Given the description of an element on the screen output the (x, y) to click on. 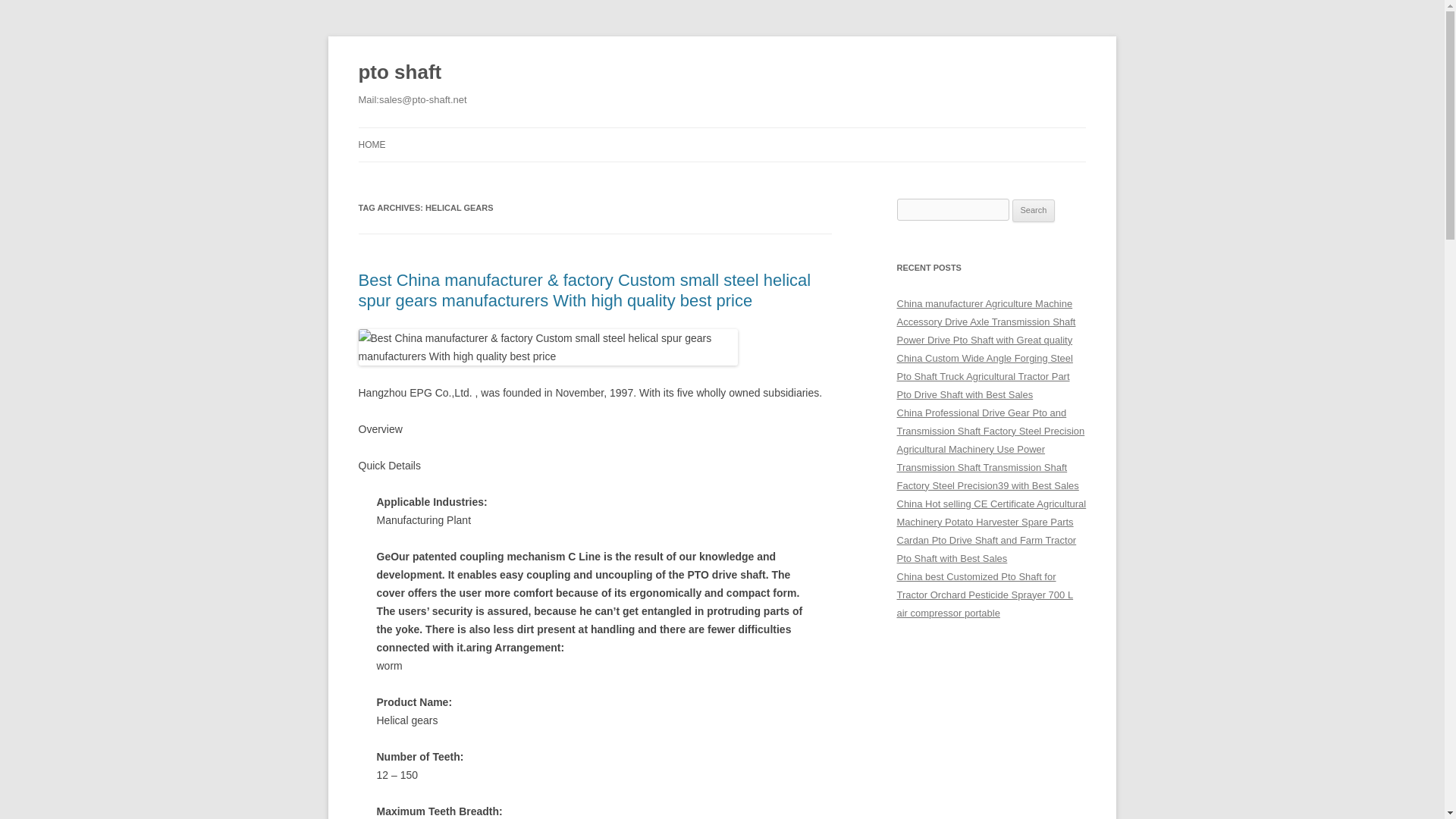
pto shaft (399, 72)
Search (1033, 210)
Search (1033, 210)
pto shaft (399, 72)
